Given the description of an element on the screen output the (x, y) to click on. 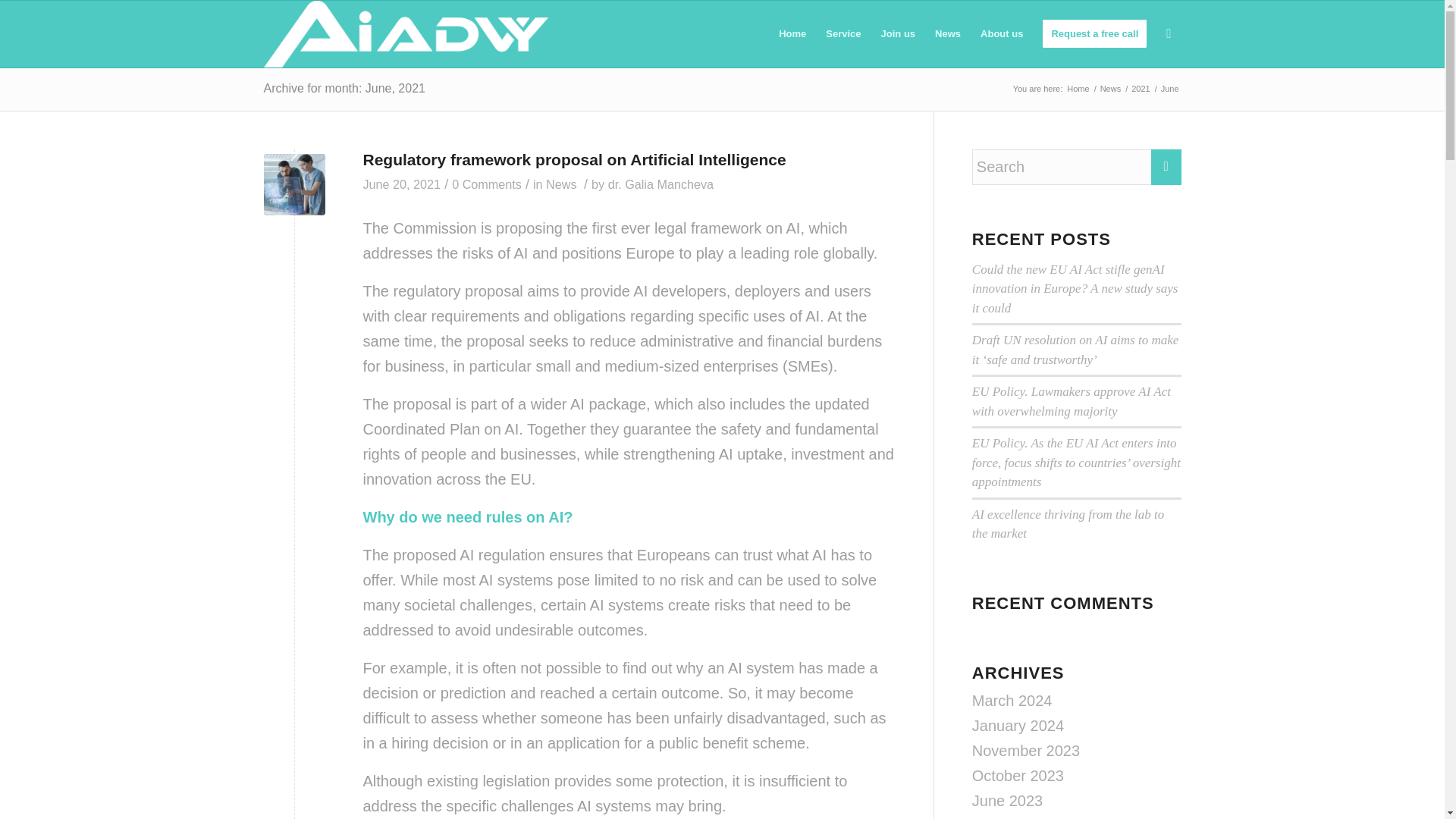
November 2023 (1026, 750)
Service (842, 33)
News (947, 33)
January 2024 (1018, 725)
News (1110, 89)
2021 (1140, 89)
AI-Advy (1077, 89)
0 Comments (486, 183)
October 2023 (1018, 775)
Join us (898, 33)
June 2023 (1007, 800)
News (1110, 89)
News (561, 183)
